Given the description of an element on the screen output the (x, y) to click on. 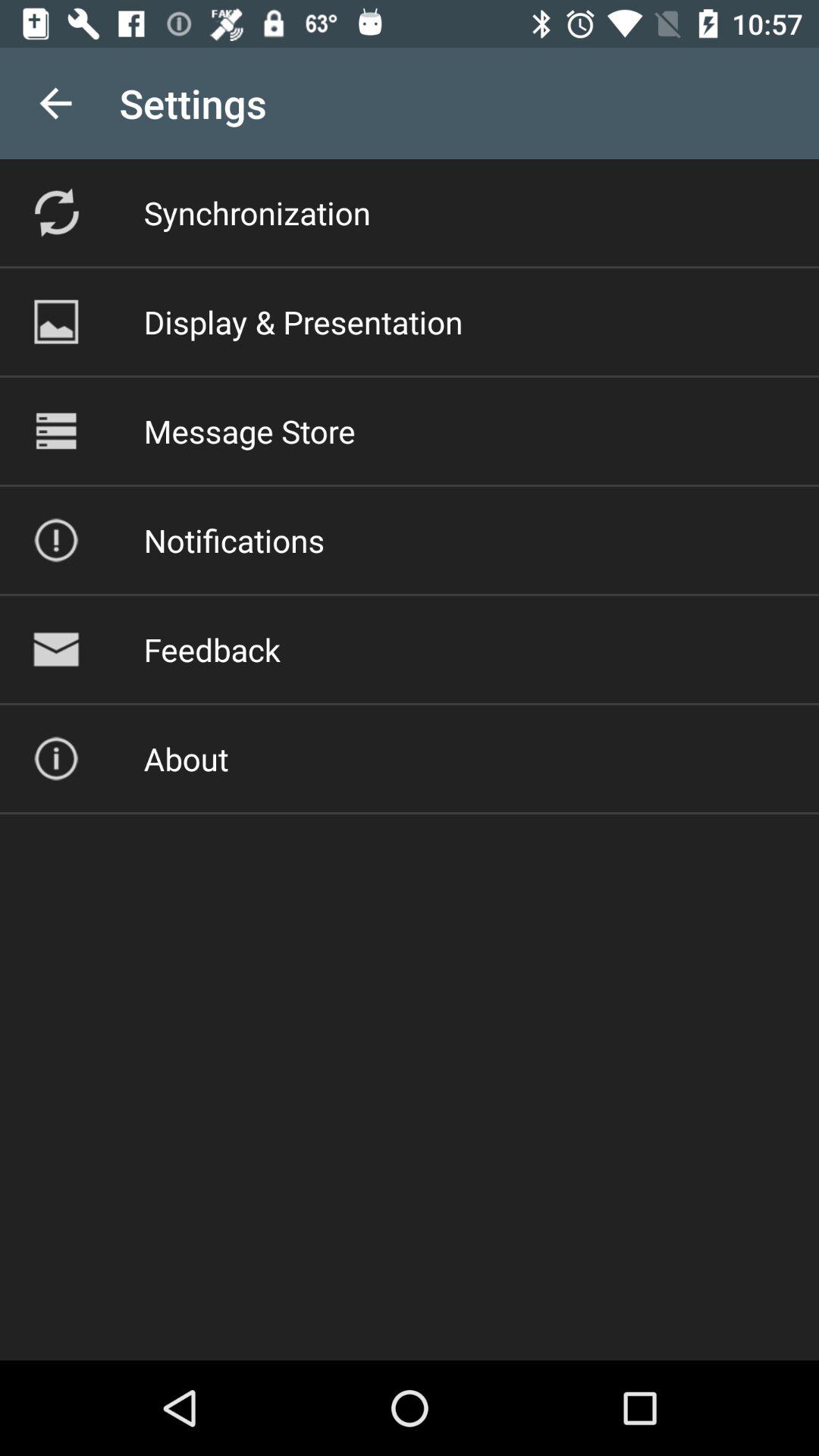
choose message store item (249, 430)
